Given the description of an element on the screen output the (x, y) to click on. 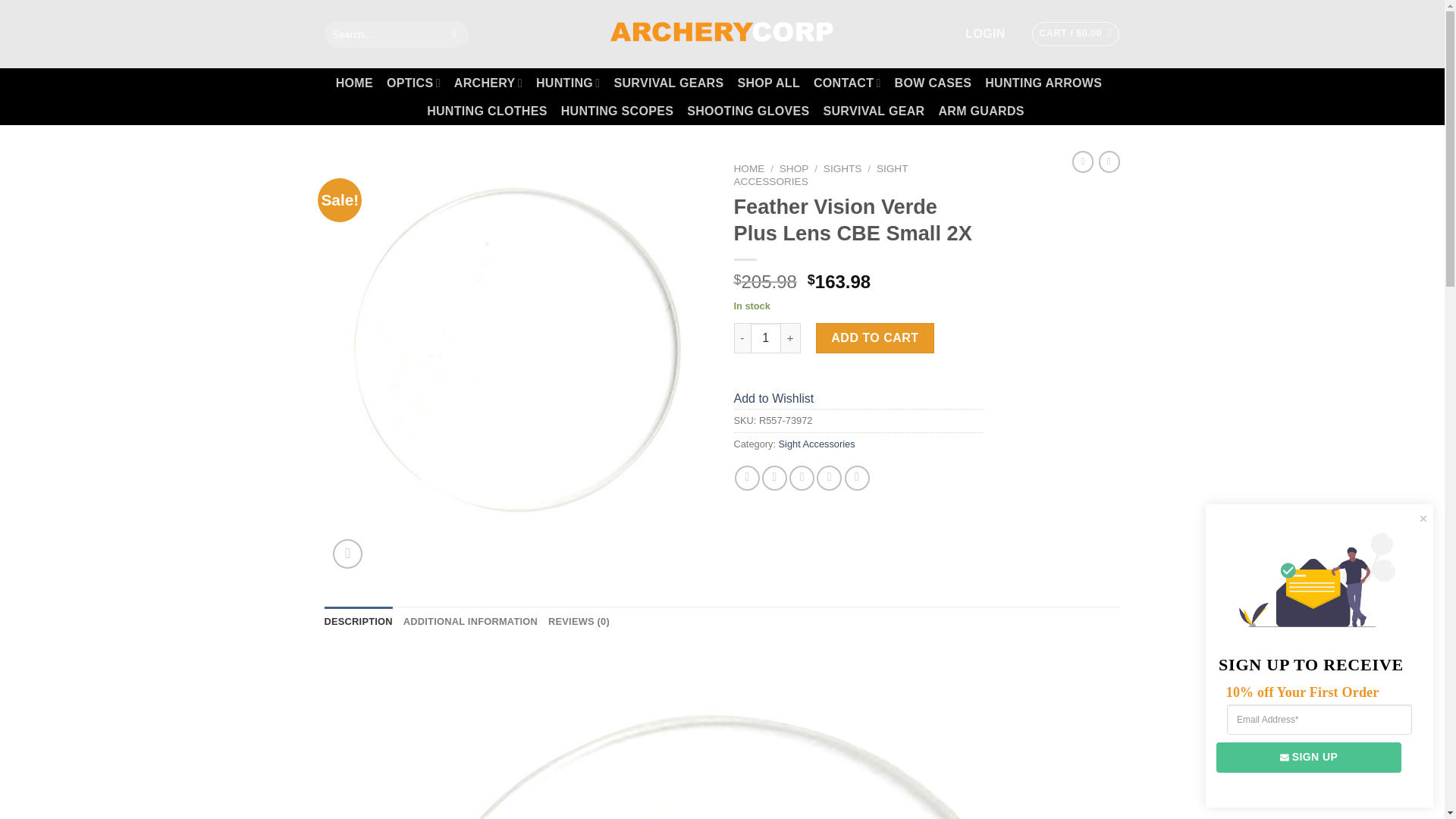
Cart (1075, 33)
OPTICS (414, 82)
Feather Vision Verde Plus Lens CBE Small 2X (721, 734)
Archery Corp - Gear Up for New Adventure! (722, 33)
LOGIN (984, 33)
HUNTING (567, 82)
HOME (354, 83)
Qty (765, 337)
ARCHERY (488, 82)
